Given the description of an element on the screen output the (x, y) to click on. 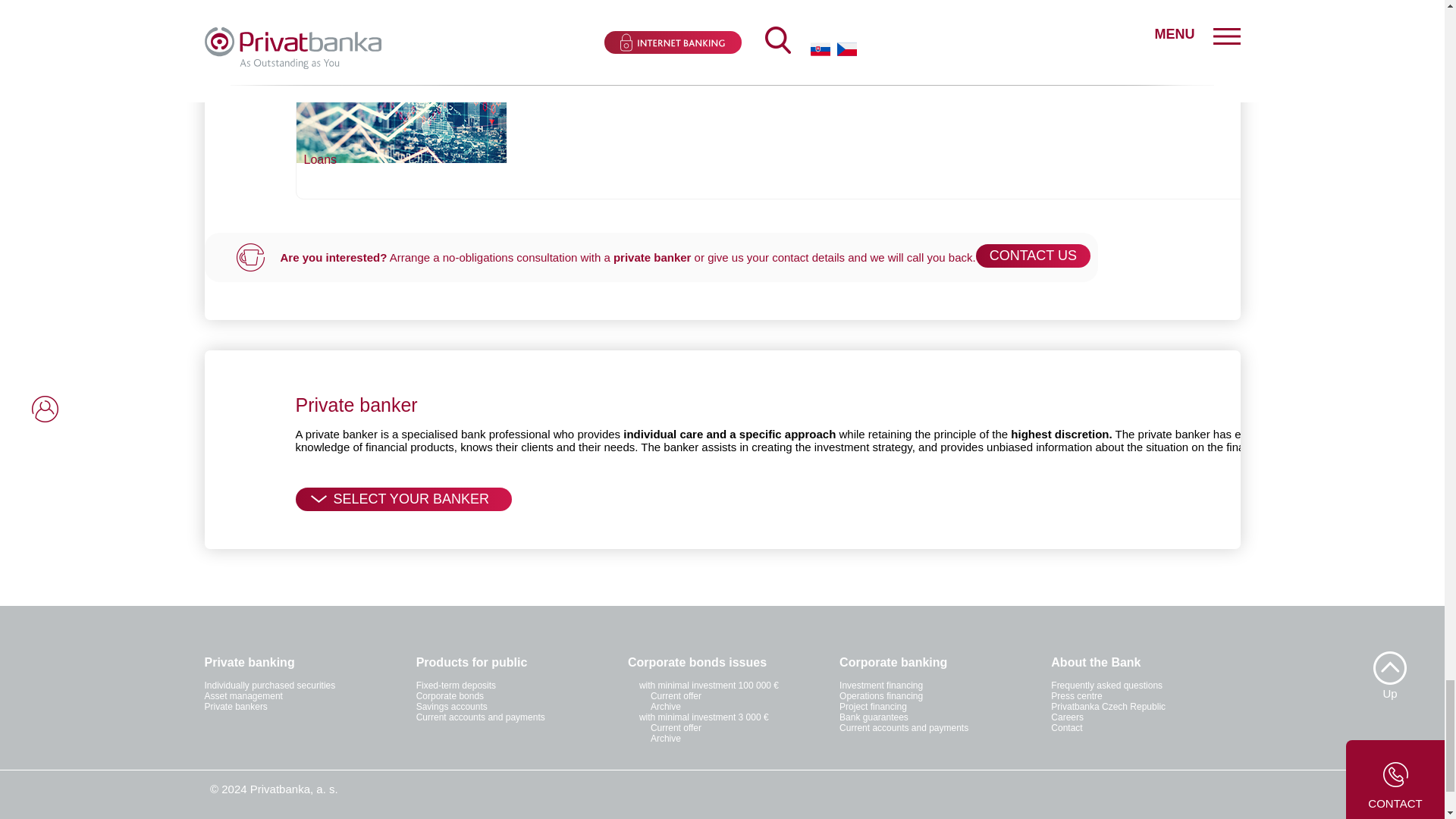
Up (1389, 653)
